Given the description of an element on the screen output the (x, y) to click on. 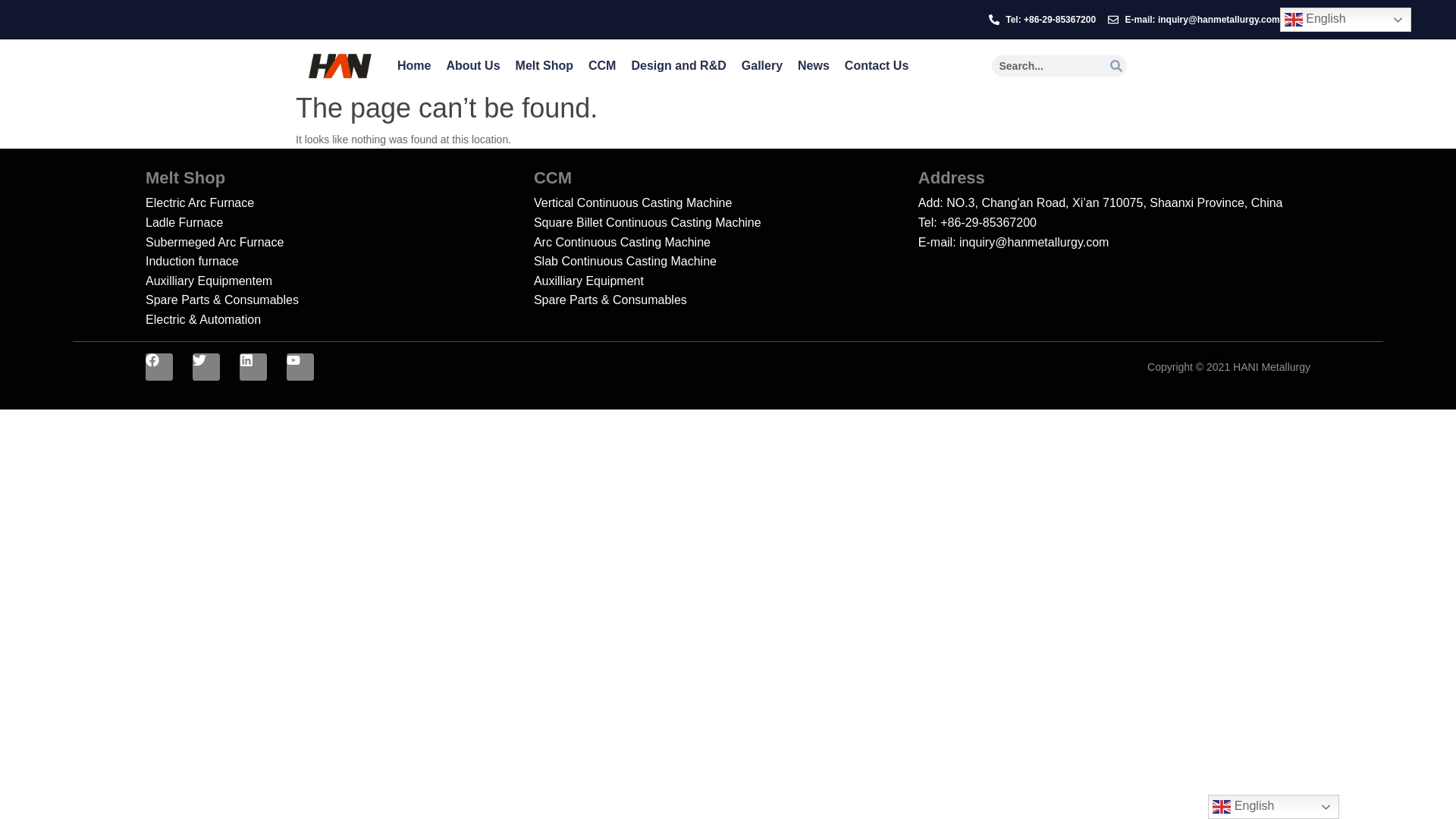
CCM (601, 65)
Gallery (761, 65)
Melt Shop (544, 65)
About Us (472, 65)
Auxilliary Equipment (726, 281)
Address (951, 177)
Auxilliary Equipmentem (339, 281)
Vertical Continuous Casting Machine (726, 202)
Induction furnace (339, 261)
Slab Continuous Casting Machine (726, 261)
Square Billet Continuous Casting Machine (726, 222)
Electric Arc Furnace (339, 202)
Arc Continuous Casting Machine (726, 242)
Subermeged Arc Furnace (339, 242)
